Given the description of an element on the screen output the (x, y) to click on. 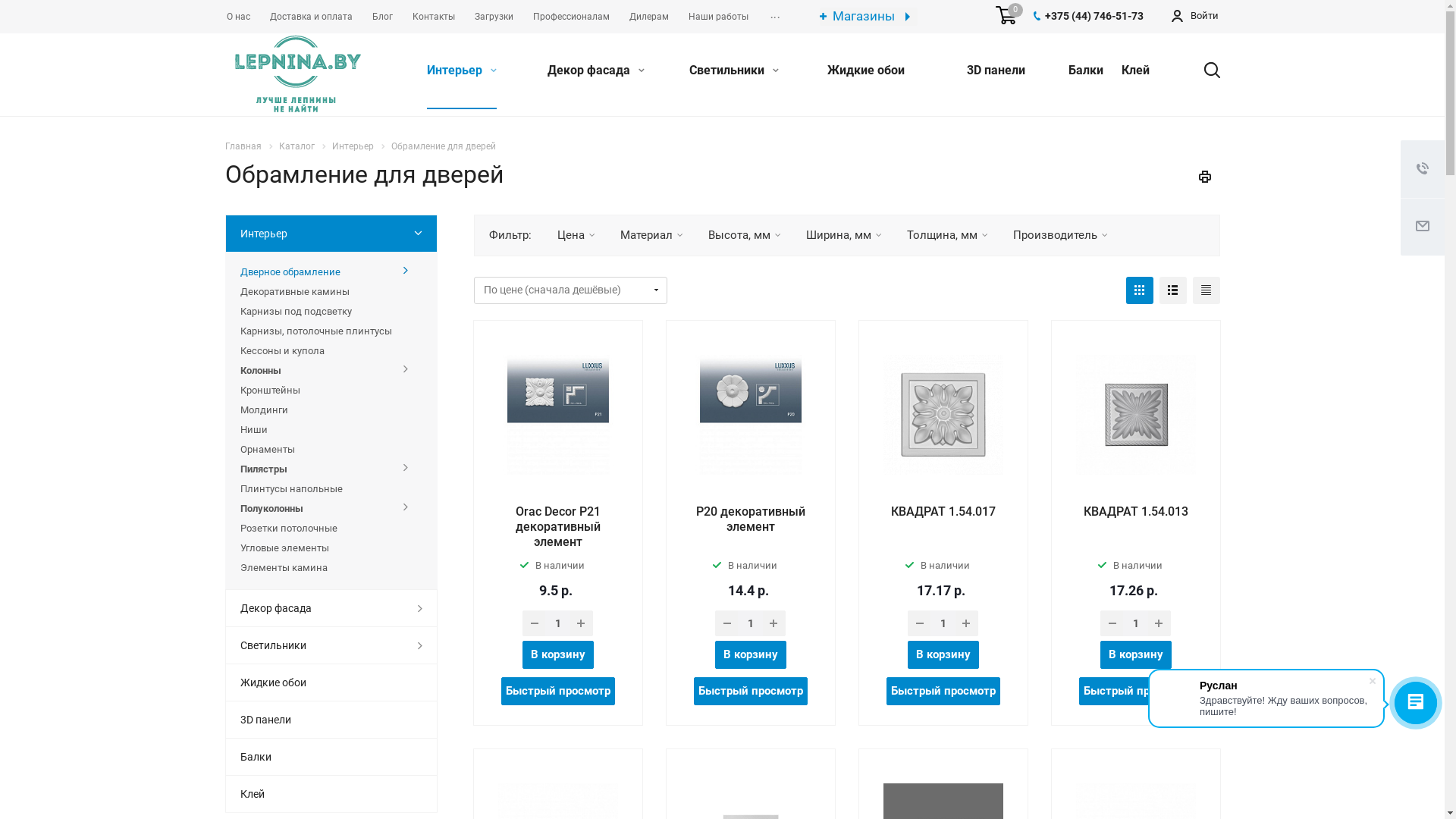
0 Element type: text (1005, 15)
lepnina.by Element type: hover (297, 74)
